Given the description of an element on the screen output the (x, y) to click on. 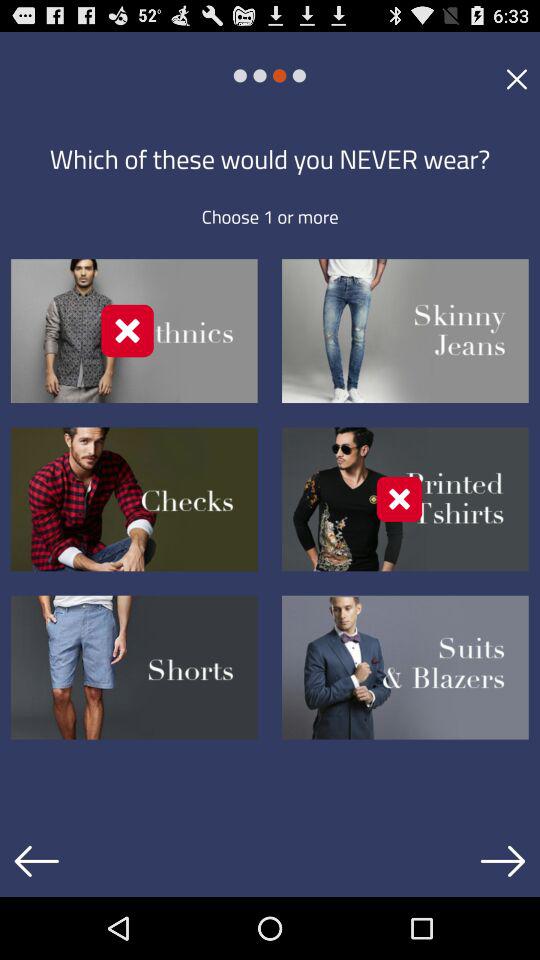
exits the page (516, 78)
